Given the description of an element on the screen output the (x, y) to click on. 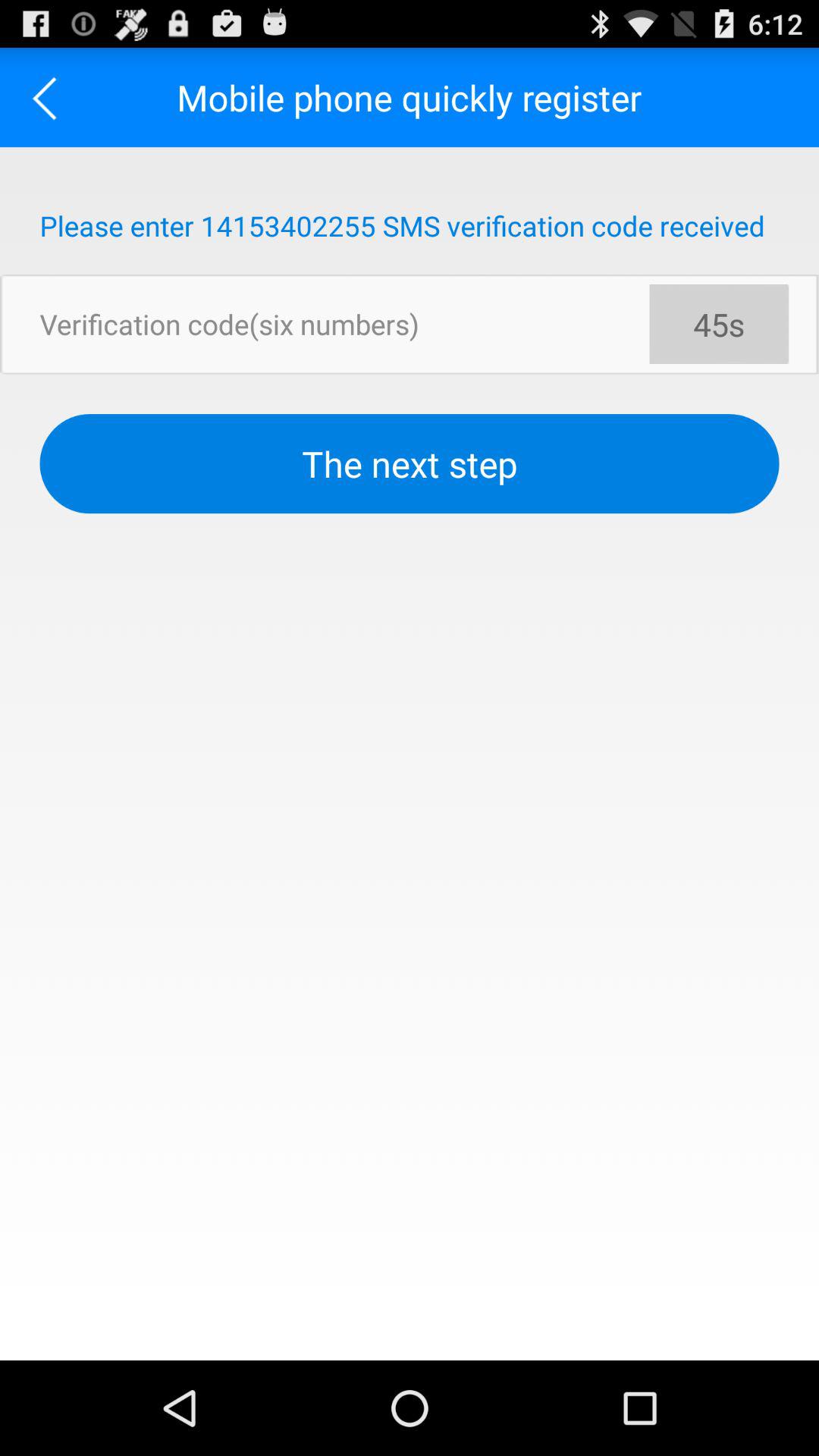
flip to the next step button (409, 463)
